Given the description of an element on the screen output the (x, y) to click on. 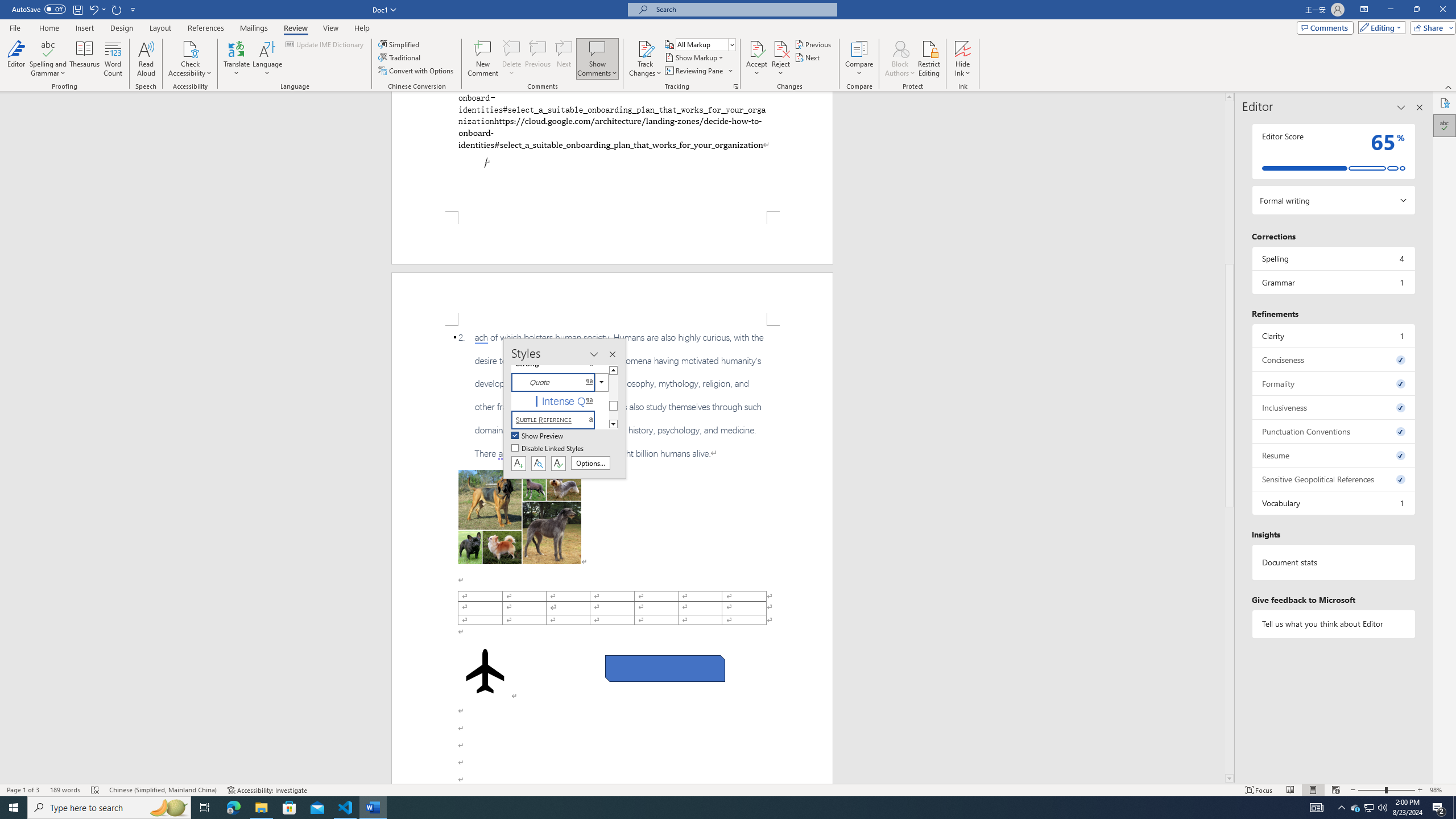
Grammar, 1 issue. Press space or enter to review items. (1333, 282)
Subtle Reference (559, 419)
2. (611, 395)
Block Authors (900, 58)
Vocabulary, 1 issue. Press space or enter to review items. (1333, 502)
Simplified (400, 44)
Change Tracking Options... (735, 85)
Rectangle: Diagonal Corners Snipped 2 (665, 668)
Spelling and Grammar (48, 58)
